Given the description of an element on the screen output the (x, y) to click on. 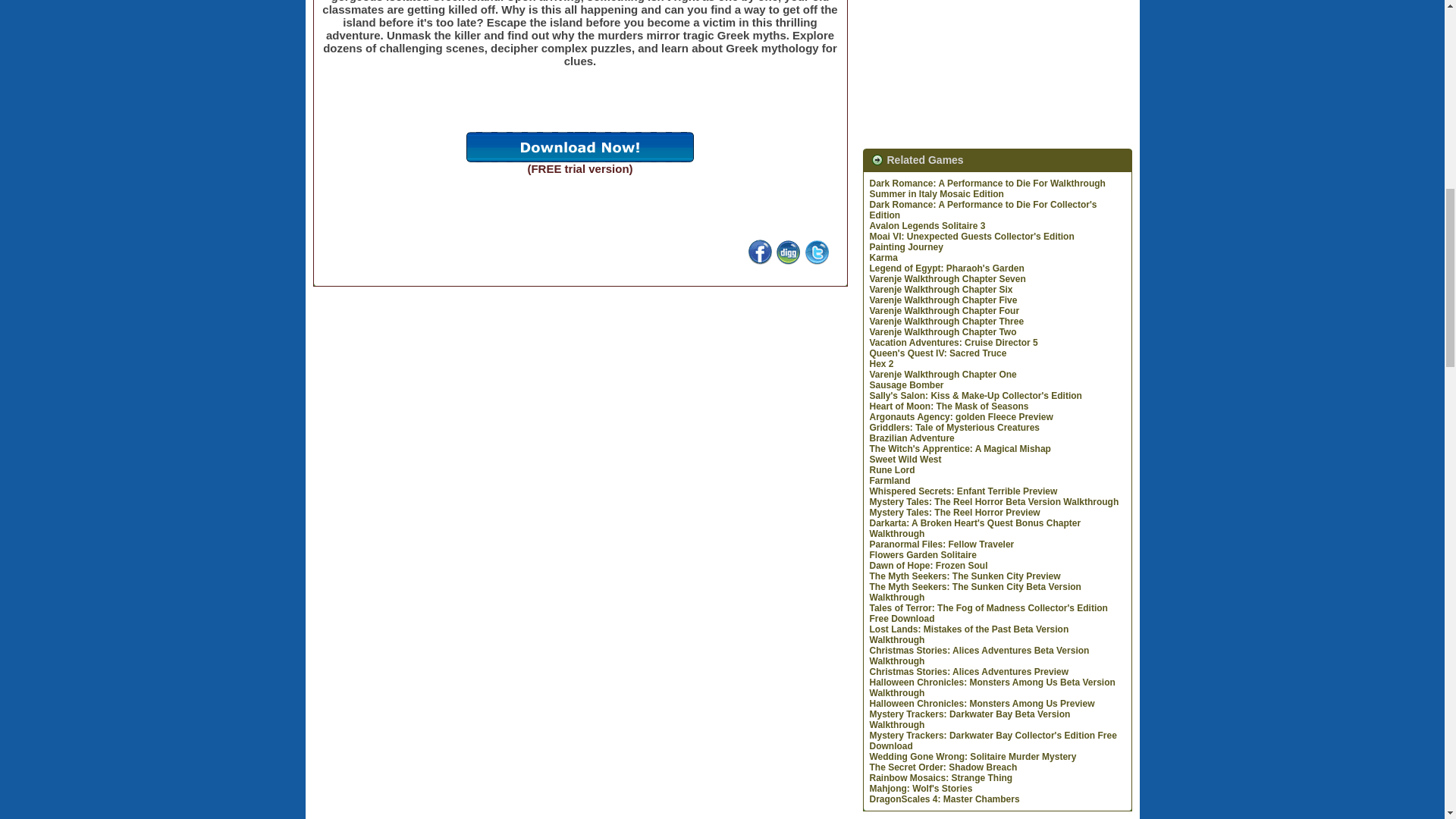
Varenje Walkthrough Chapter Five (942, 299)
Varenje Walkthrough Chapter Six (940, 289)
Legend of Egypt: Pharaoh's Garden (946, 267)
Murder Island - Secret of Tantalus (788, 259)
Varenje Walkthrough Chapter Seven (947, 278)
Murder Island - Secret of Tantalus (760, 259)
Avalon Legends Solitaire 3 (927, 225)
Varenje Walkthrough Chapter Four (944, 310)
Summer in Italy Mosaic Edition (936, 194)
Murder Island - Secret of Tantalus (579, 146)
